Given the description of an element on the screen output the (x, y) to click on. 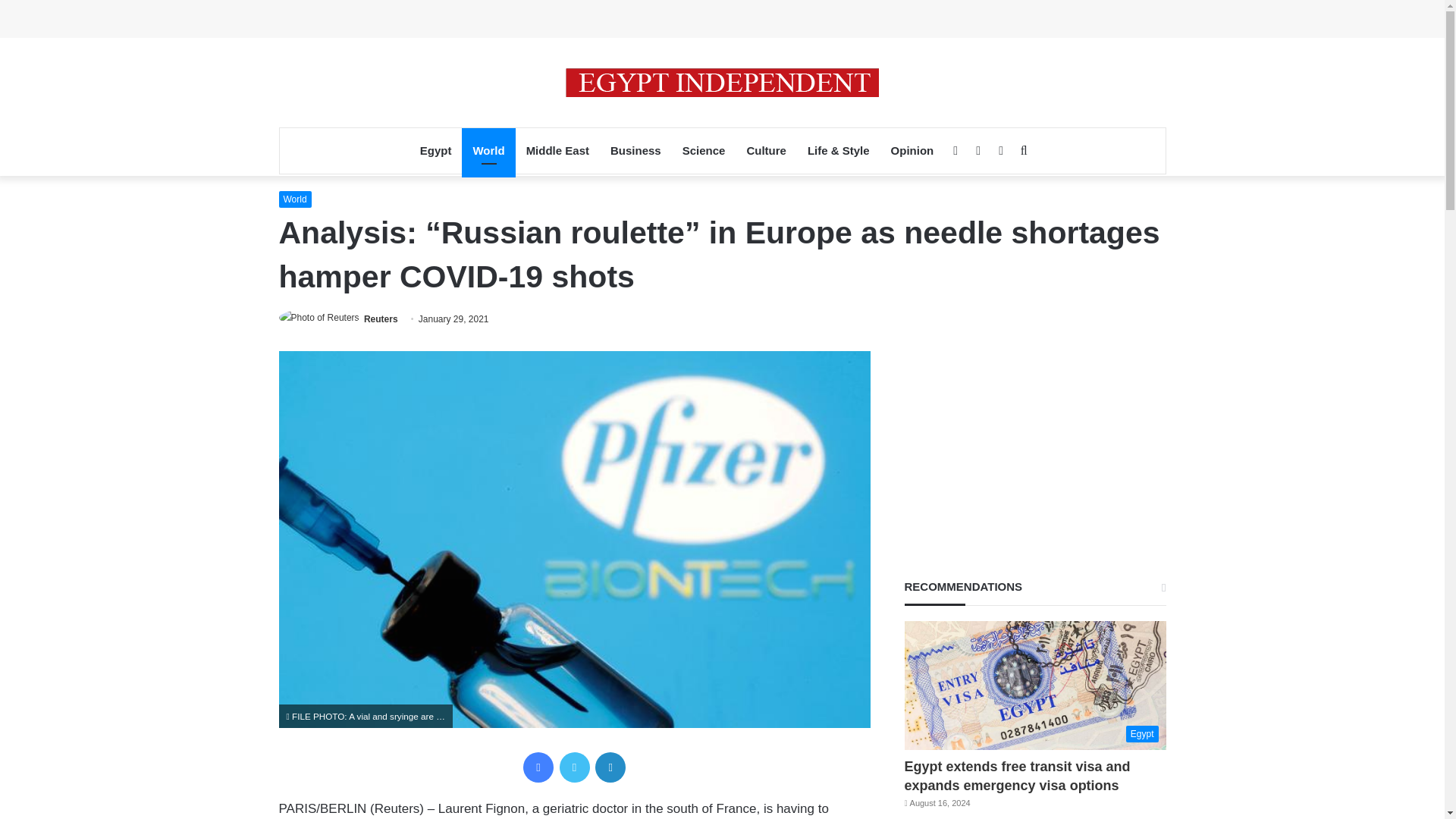
Egypt Independent (722, 82)
Reuters (380, 318)
LinkedIn (610, 767)
World (295, 199)
Facebook (537, 767)
Twitter (574, 767)
Facebook (537, 767)
Science (703, 150)
Twitter (574, 767)
Business (635, 150)
